Given the description of an element on the screen output the (x, y) to click on. 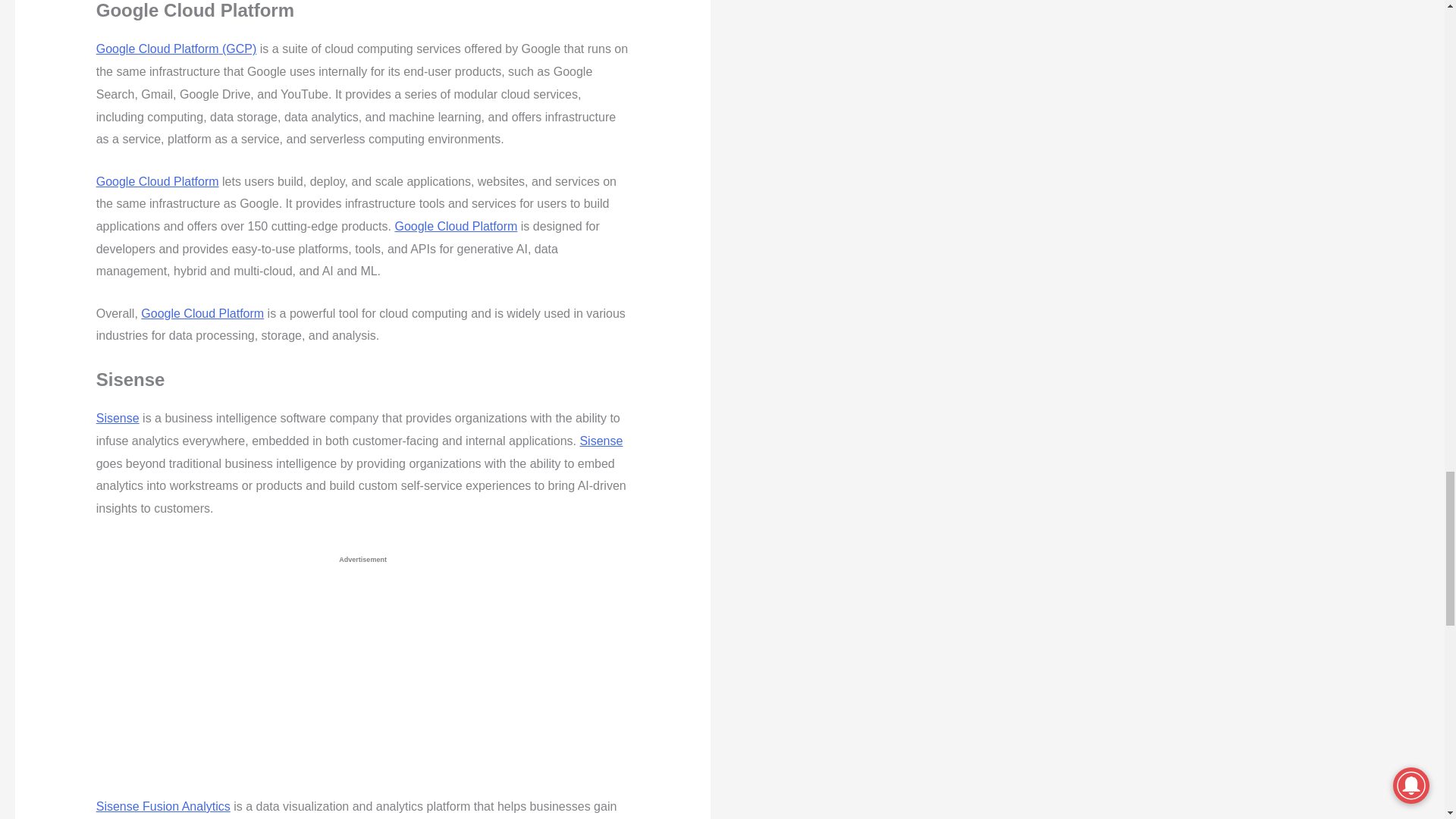
Advertisement (338, 683)
